Given the description of an element on the screen output the (x, y) to click on. 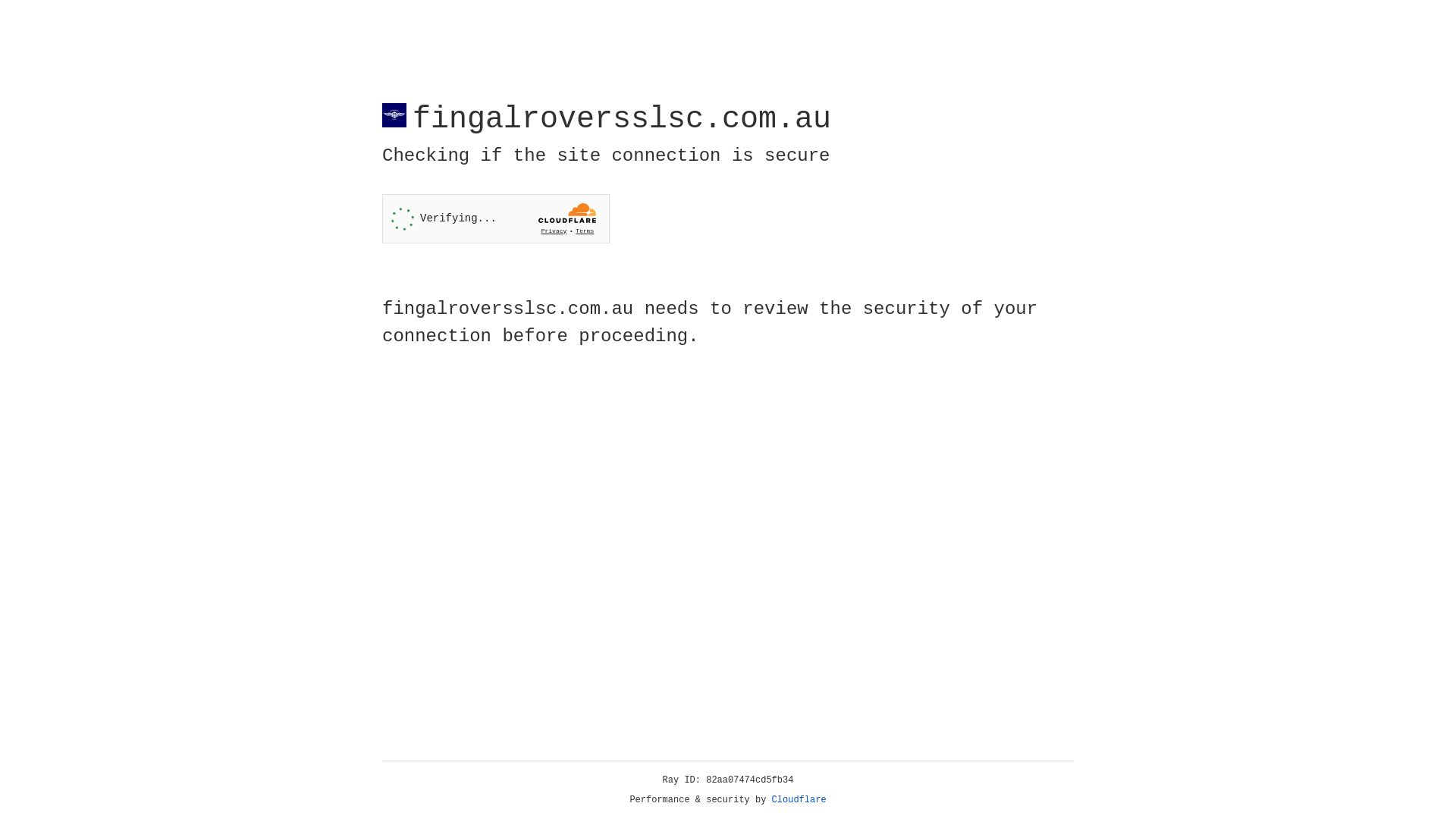
Widget containing a Cloudflare security challenge Element type: hover (495, 218)
Cloudflare Element type: text (798, 799)
